Given the description of an element on the screen output the (x, y) to click on. 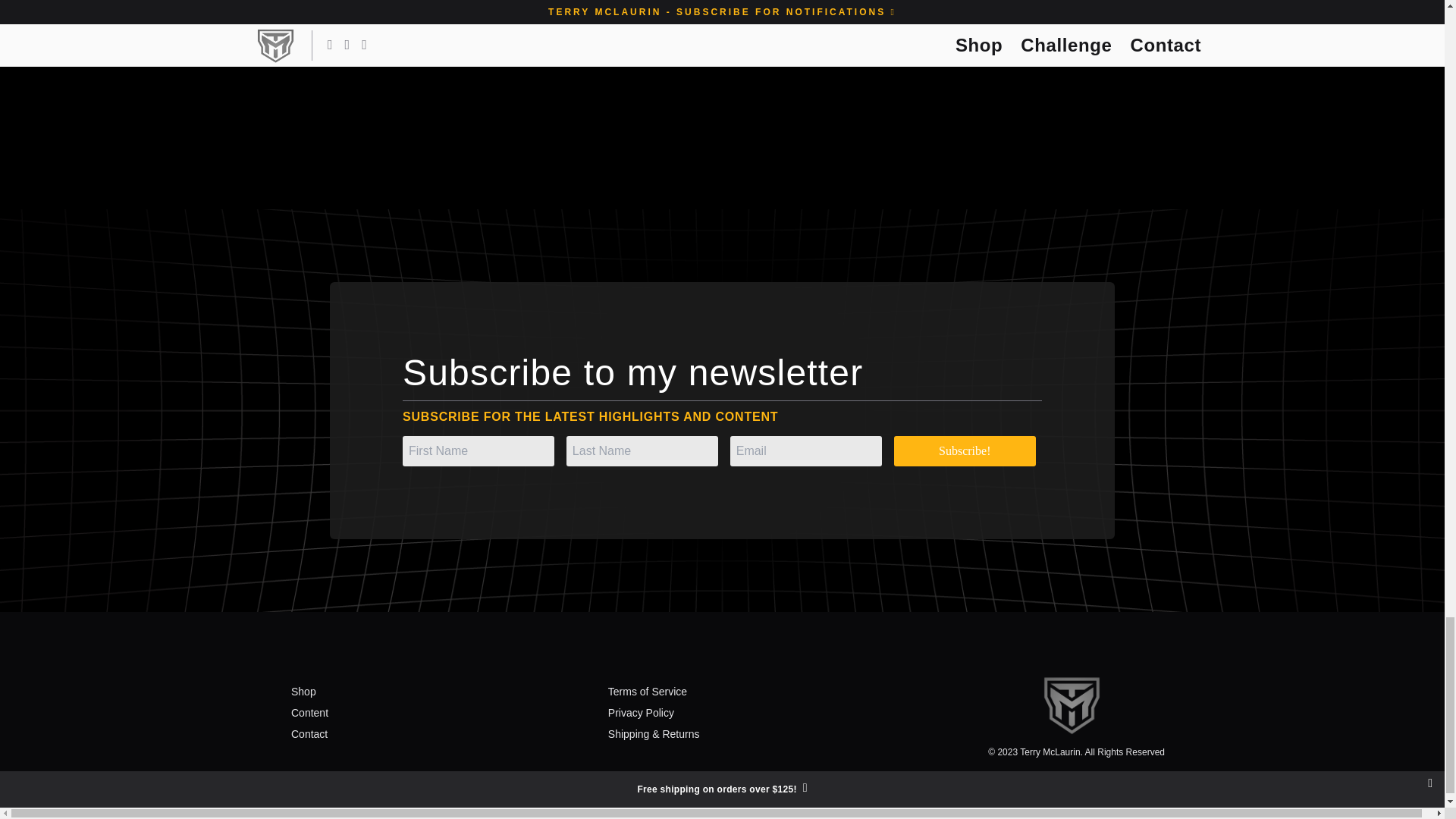
Subscribe! (964, 450)
